Given the description of an element on the screen output the (x, y) to click on. 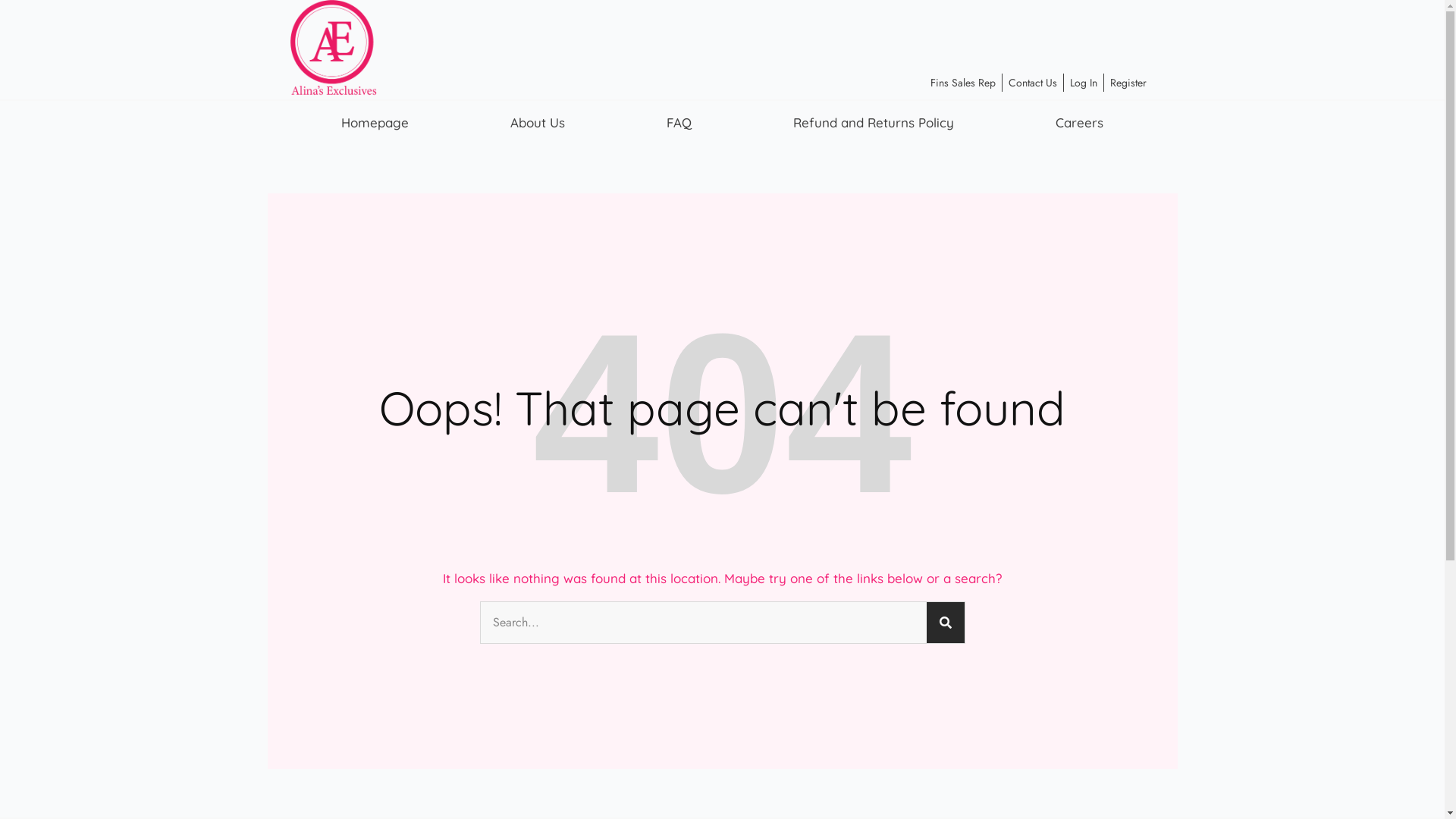
Fins Sales Rep Element type: text (962, 82)
Homepage Element type: text (373, 123)
Register Element type: text (1128, 82)
Contact Us Element type: text (1032, 82)
Careers Element type: text (1079, 123)
FAQ Element type: text (678, 123)
About Us Element type: text (537, 123)
Refund and Returns Policy Element type: text (873, 123)
Log In Element type: text (1083, 82)
Search Element type: text (945, 622)
